Given the description of an element on the screen output the (x, y) to click on. 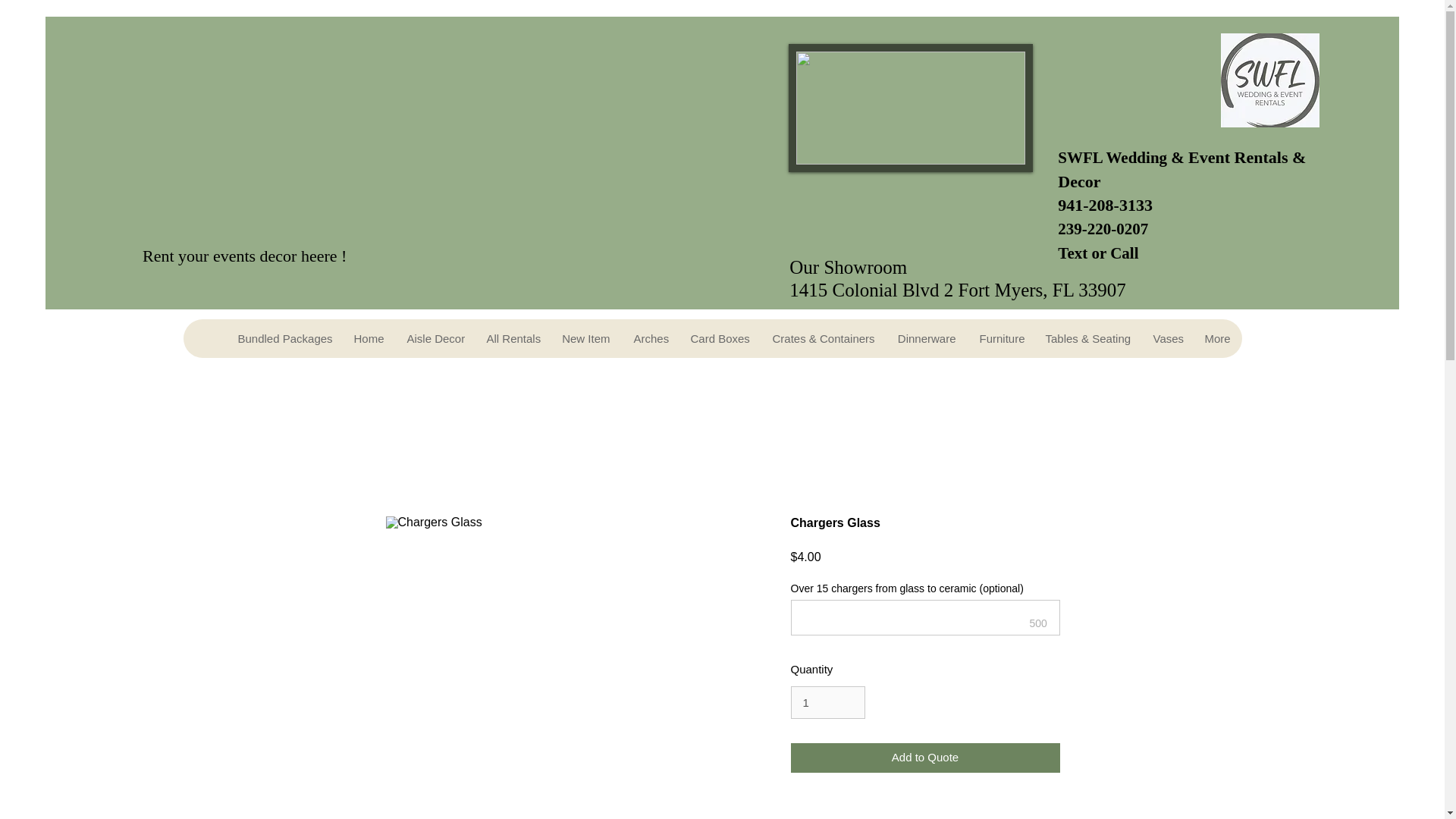
1 (827, 702)
All Rentals (511, 338)
Arches (649, 338)
Card Boxes (719, 338)
Furniture (1000, 338)
Bundled Packages (283, 338)
Dinnerware (926, 338)
Vases (1166, 338)
Home (367, 338)
Aisle Decor (434, 338)
Add to Quote (924, 757)
